Given the description of an element on the screen output the (x, y) to click on. 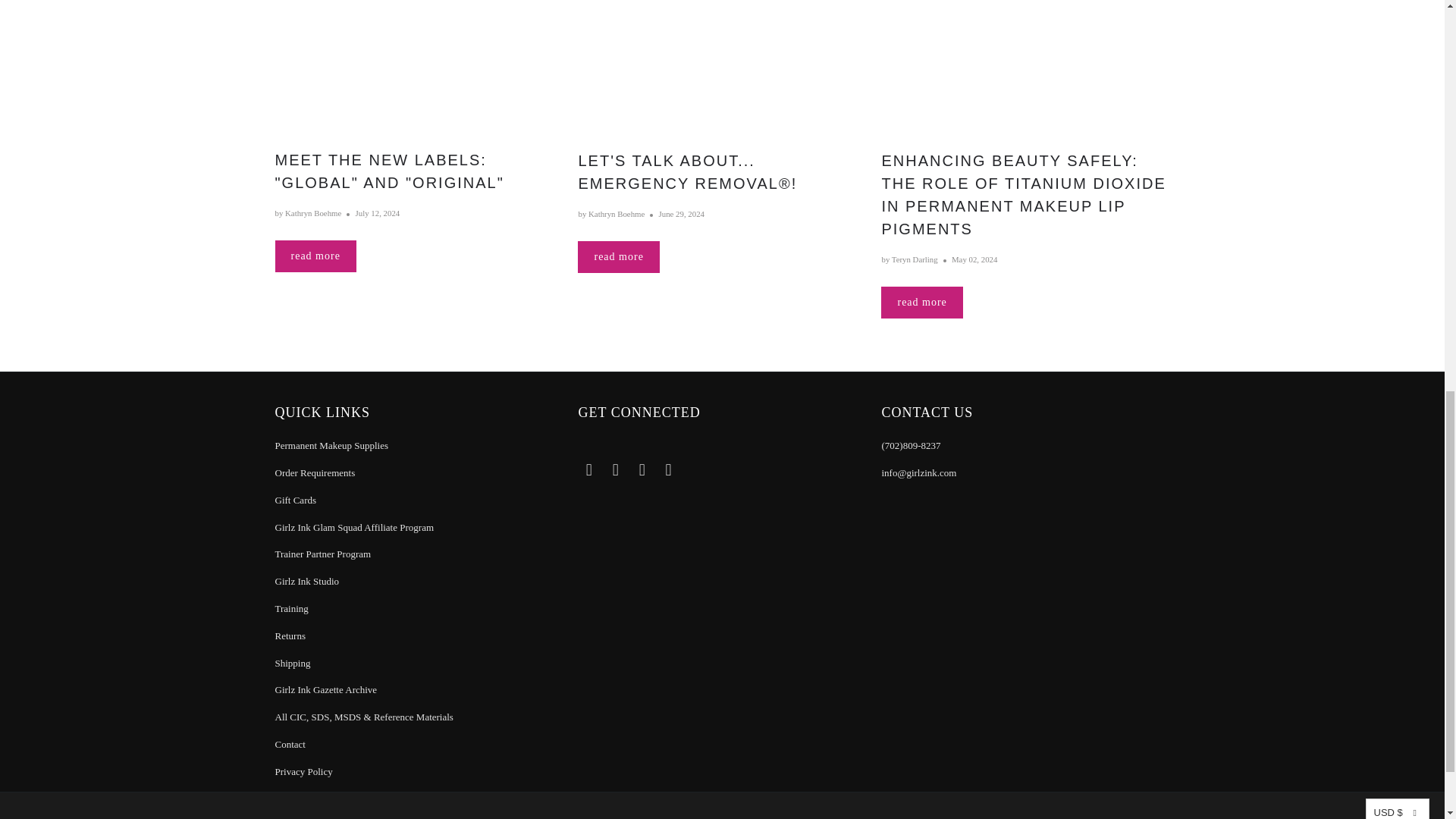
Meet the New Labels: "GLOBAL" and "ORIGINAL" (418, 72)
